Given the description of an element on the screen output the (x, y) to click on. 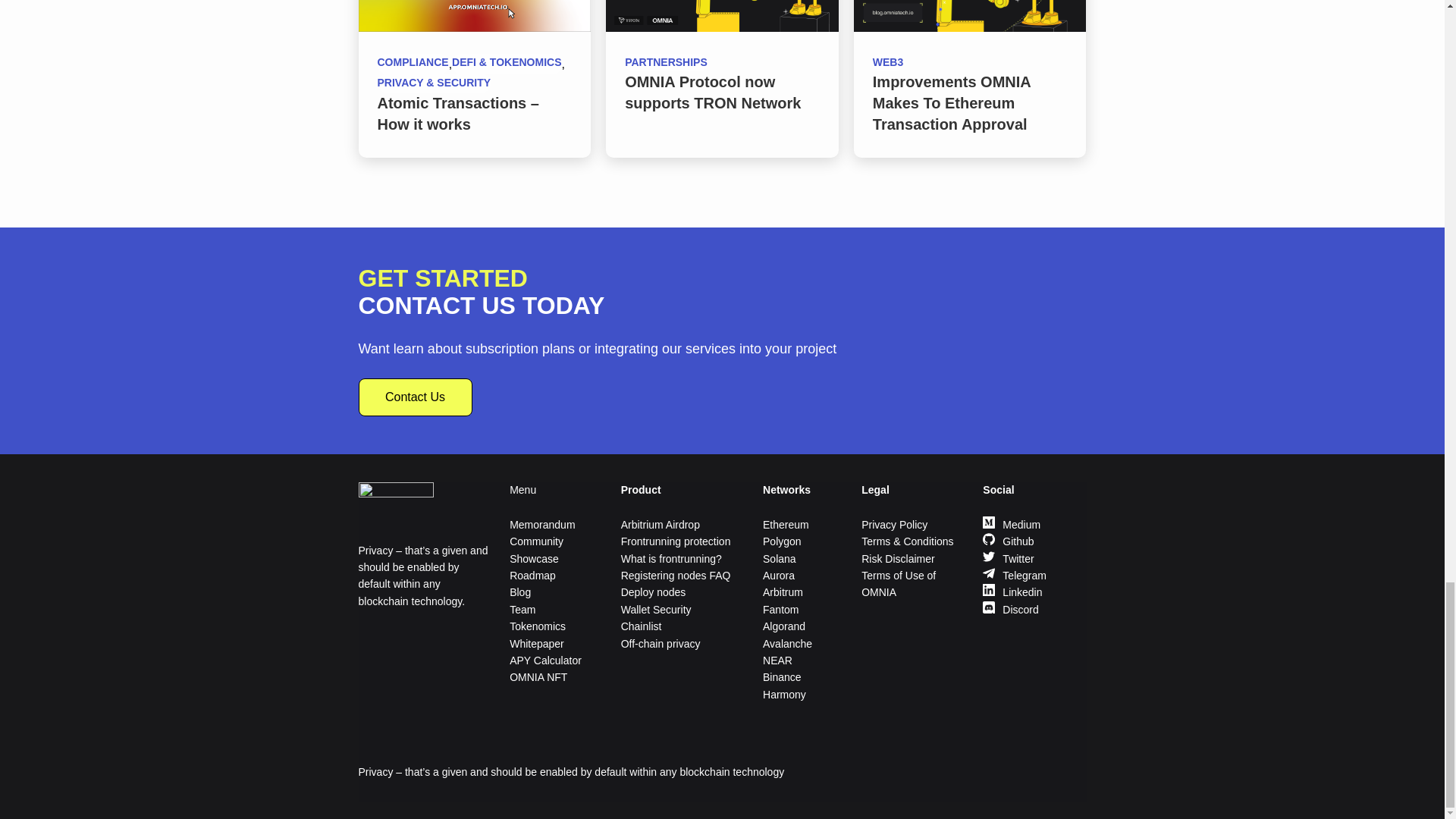
COMPLIANCE (412, 64)
OMNIA Protocol now supports TRON Network (712, 92)
PARTNERSHIPS (665, 63)
